Given the description of an element on the screen output the (x, y) to click on. 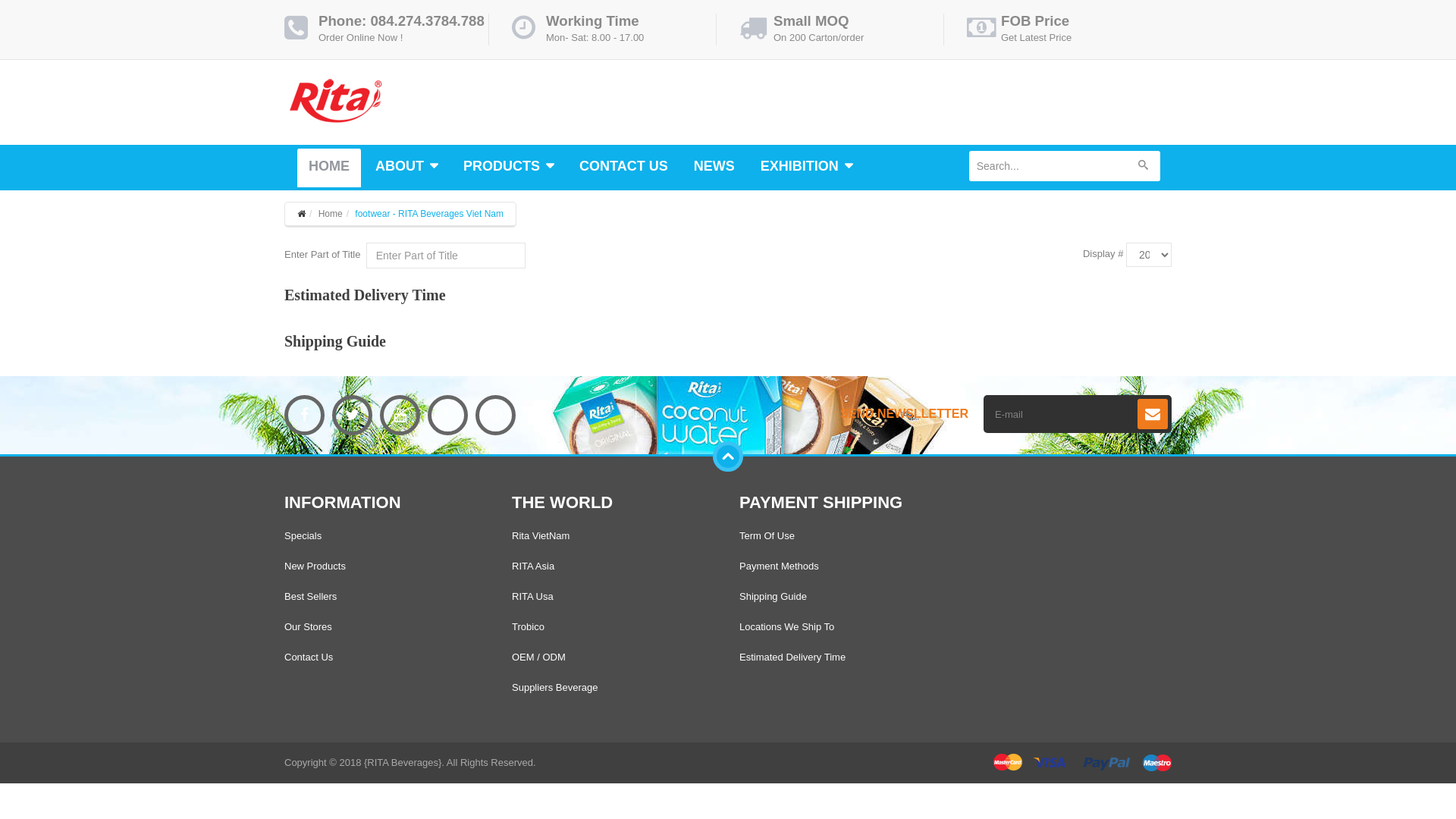
Shipping Guide Element type: text (772, 596)
NEWS Element type: text (713, 167)
Term Of Use Element type: text (766, 535)
Shipping Guide Element type: text (334, 340)
Subscribe Element type: text (1152, 413)
Locations We Ship To Element type: text (786, 626)
CONTACT US Element type: text (623, 167)
Google Plus Element type: hover (447, 415)
New Products Element type: text (314, 565)
Estimated Delivery Time Element type: text (792, 656)
Enter all or part of the title to search for. Element type: hover (445, 255)
Specials Element type: text (302, 535)
EXHIBITION Element type: text (806, 167)
Youtube Element type: hover (399, 415)
Payment Methods Element type: text (779, 565)
Pinterest Element type: hover (495, 415)
Rita VietNam Element type: text (540, 535)
HOME Element type: text (328, 167)
Estimated Delivery Time Element type: text (364, 294)
RITA Asia Element type: text (532, 565)
Our Stores Element type: text (308, 626)
Go to top Element type: hover (727, 456)
Trobico Element type: text (527, 626)
ABOUT Element type: text (406, 167)
E-mail Element type: hover (1062, 413)
Facebook Element type: hover (304, 415)
Suppliers Beverage Element type: text (554, 687)
PRODUCTS Element type: text (508, 167)
Best Sellers Element type: text (310, 596)
Contact Us Element type: text (308, 656)
RITA Usa Element type: text (532, 596)
OEM / ODM Element type: text (538, 656)
Home Element type: text (330, 213)
Twitter Element type: hover (352, 415)
